Given the description of an element on the screen output the (x, y) to click on. 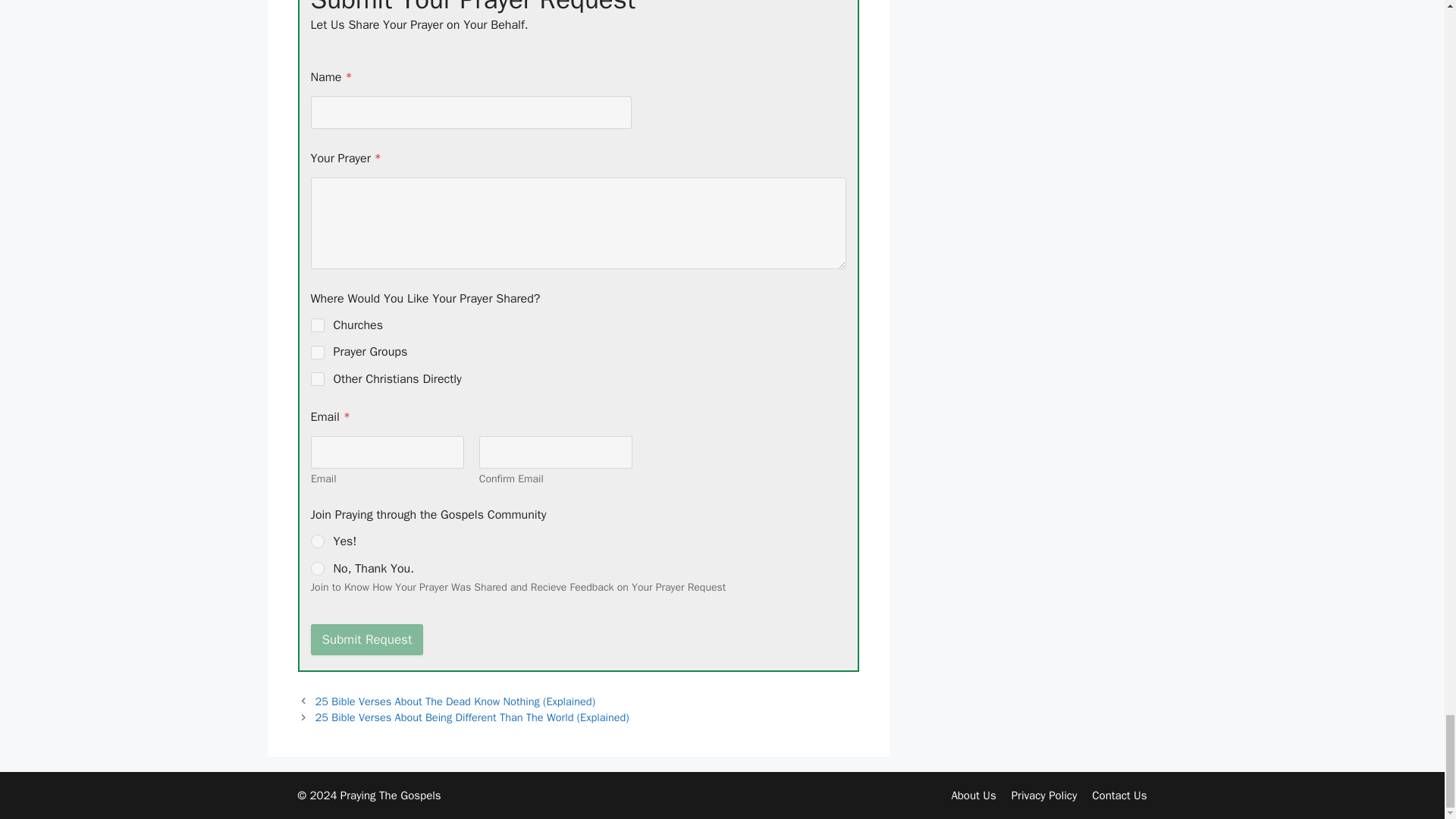
Prayer Groups (318, 352)
Churches (318, 325)
Yes! (318, 541)
Other Christians Directly (318, 378)
No, Thank You. (318, 568)
